Given the description of an element on the screen output the (x, y) to click on. 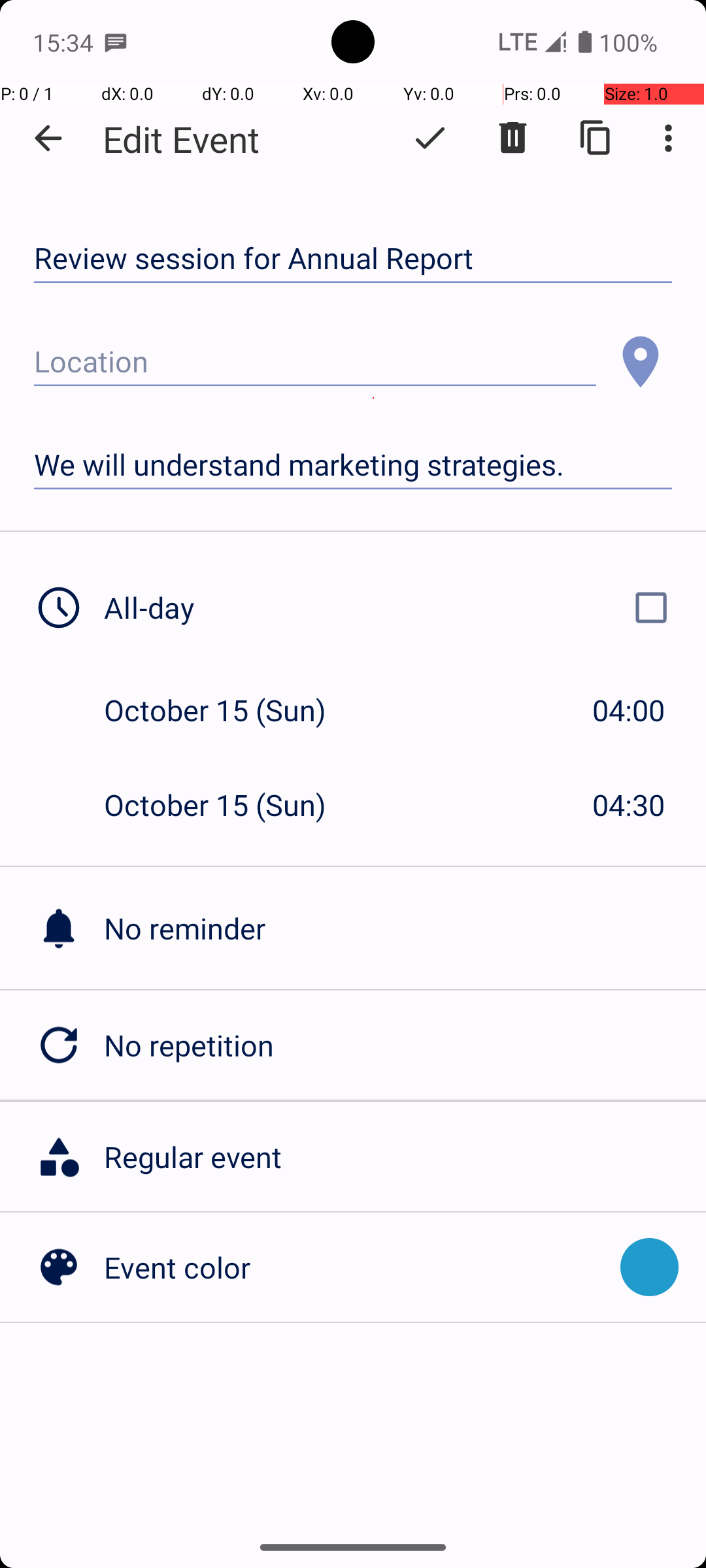
We will understand marketing strategies. Element type: android.widget.EditText (352, 465)
04:00 Element type: android.widget.TextView (628, 709)
04:30 Element type: android.widget.TextView (628, 804)
